Given the description of an element on the screen output the (x, y) to click on. 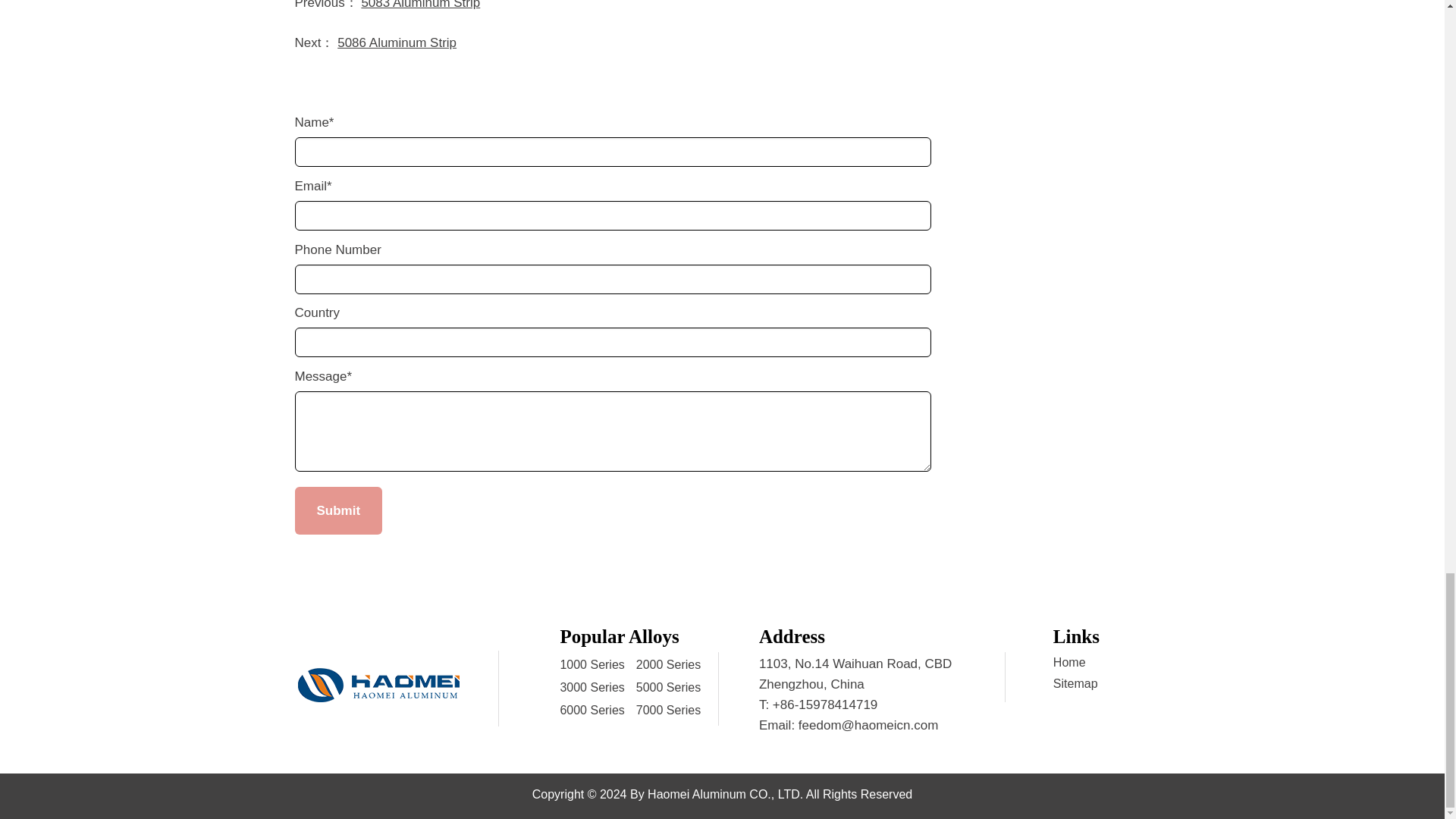
Submit (337, 510)
5086 Aluminum Strip (397, 42)
Submit (337, 510)
5083 Aluminum Strip (420, 4)
